Given the description of an element on the screen output the (x, y) to click on. 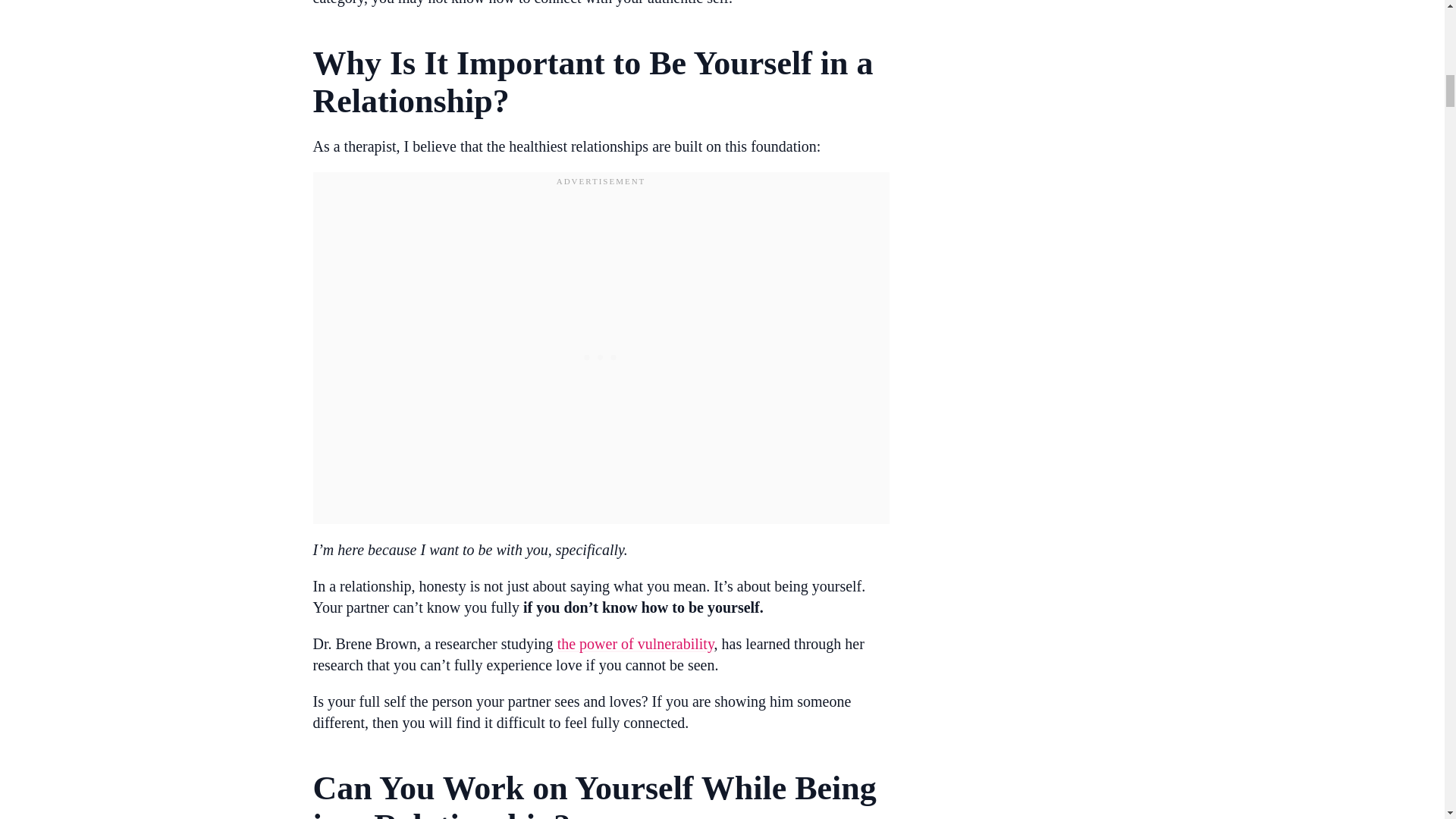
the power of vulnerability (635, 643)
